Given the description of an element on the screen output the (x, y) to click on. 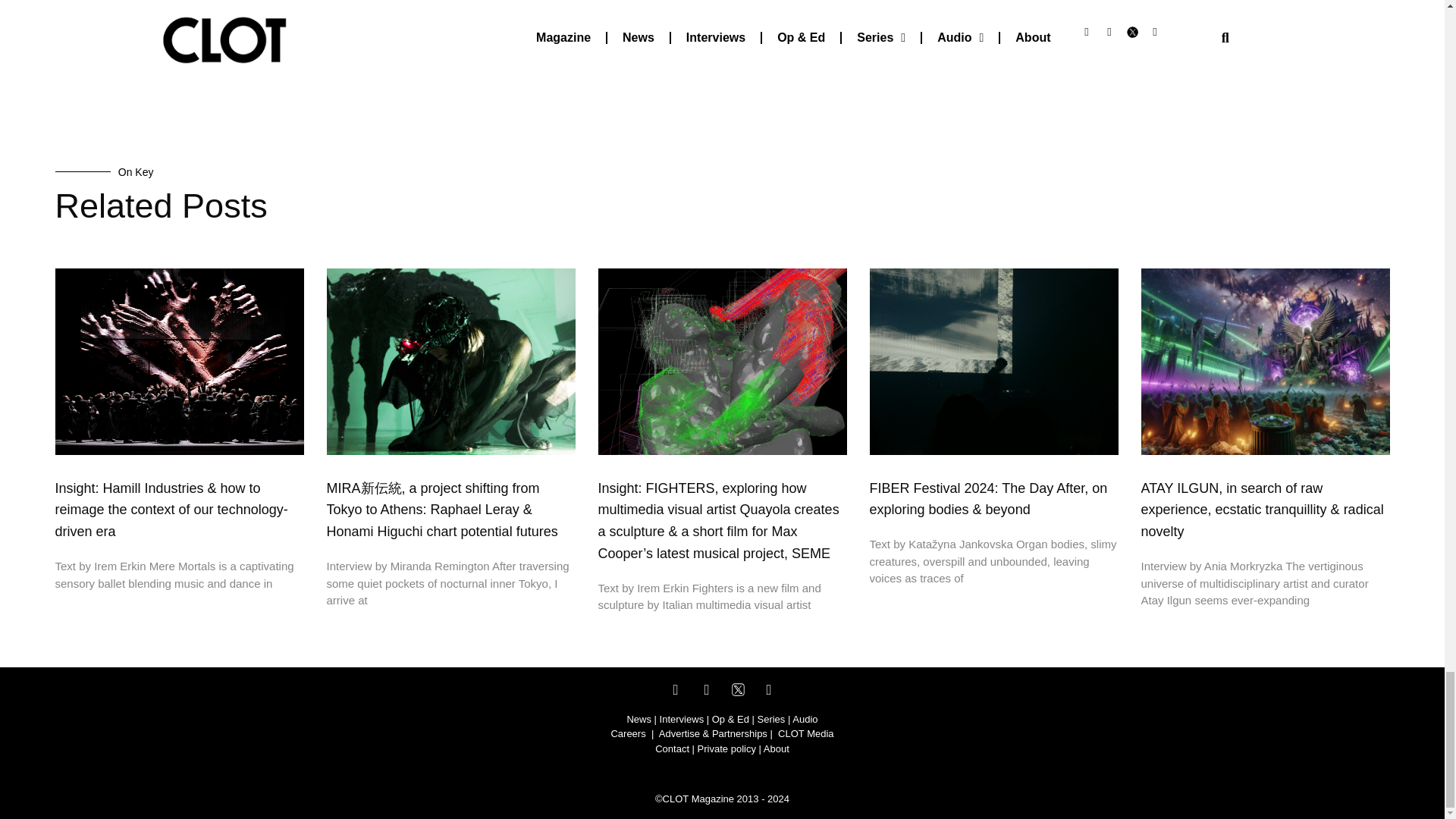
ezgif-1-2da2a536b5 (993, 10)
ezgif-1-3803018b25 (450, 10)
ezgif.com-resize-1 (179, 10)
